Given the description of an element on the screen output the (x, y) to click on. 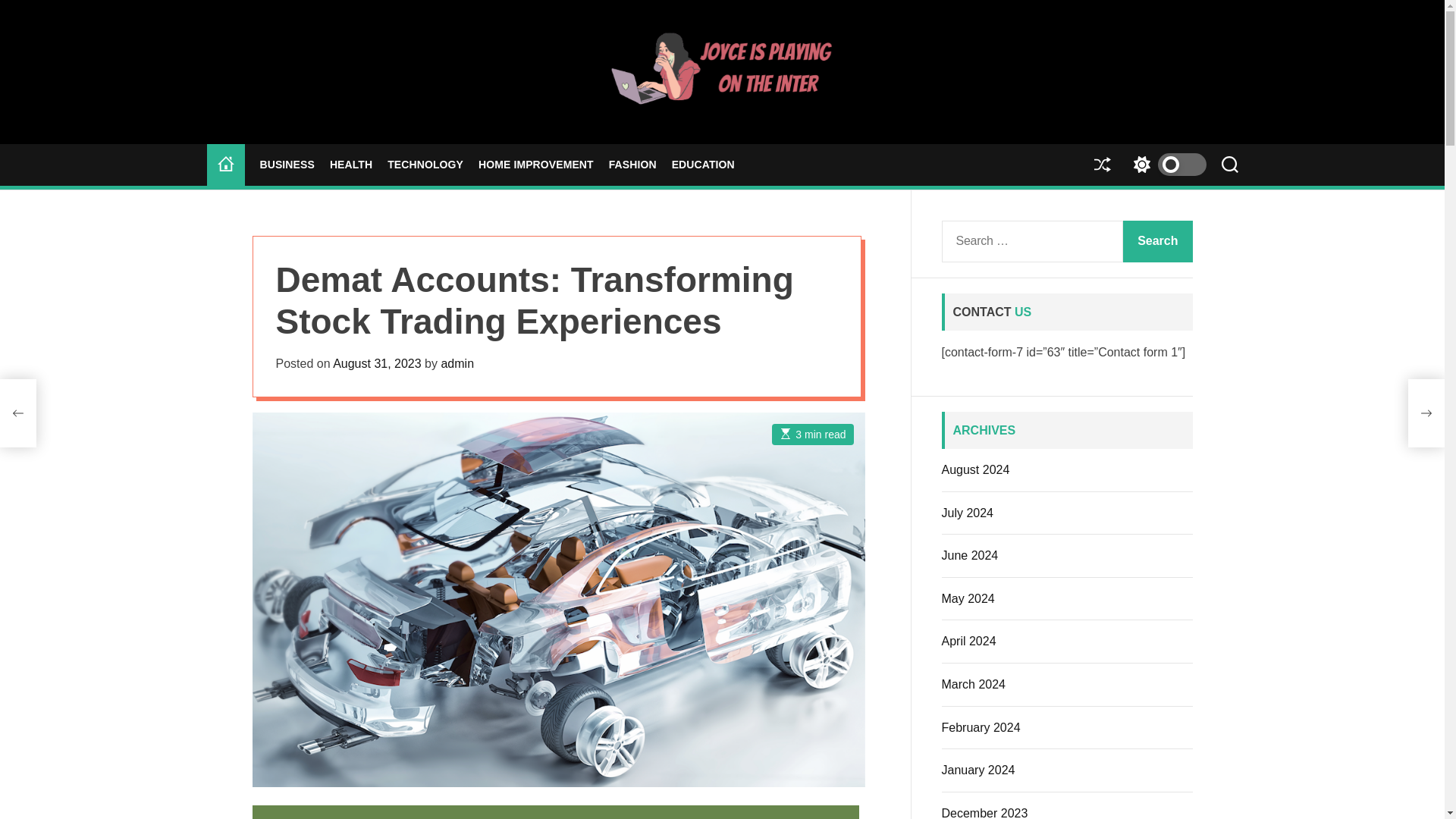
August 31, 2023 (377, 363)
Search (1157, 241)
FASHION (632, 164)
BUSINESS (286, 164)
Switch color mode (1165, 164)
admin (457, 363)
EDUCATION (703, 164)
Search (1157, 241)
HOME IMPROVEMENT (536, 164)
TECHNOLOGY (425, 164)
HEALTH (351, 164)
